Given the description of an element on the screen output the (x, y) to click on. 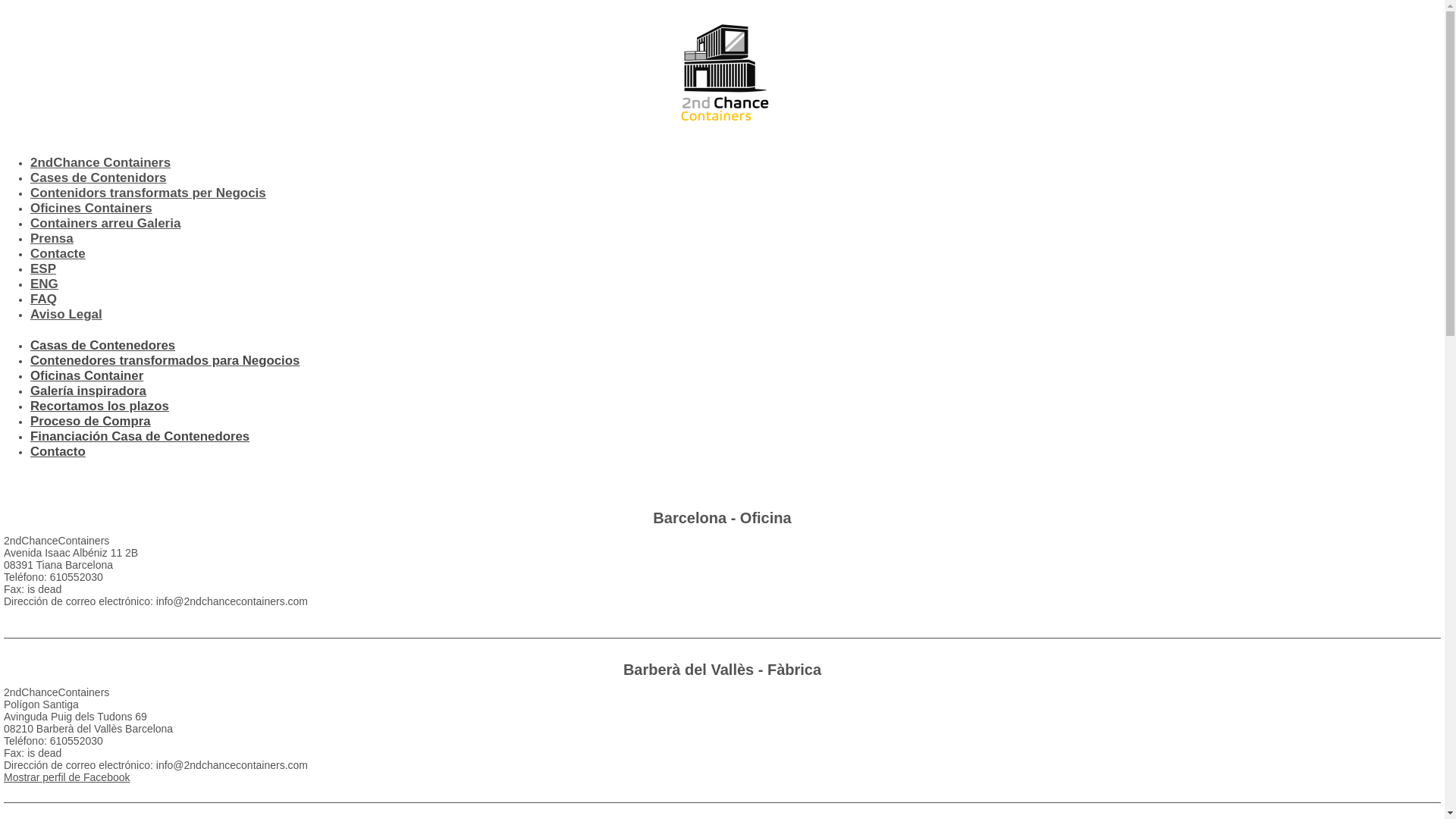
Contenidors transformats per Negocis Element type: text (148, 192)
ESP Element type: text (43, 268)
2ndChance Containers Element type: text (100, 162)
Mostrar perfil de Facebook Element type: text (66, 777)
Recortamos los plazos Element type: text (99, 405)
ENG Element type: text (44, 283)
Casas de Contenedores Element type: text (102, 345)
Oficines Containers Element type: text (91, 207)
FAQ Element type: text (43, 298)
Cases de Contenidors Element type: text (98, 177)
Contacto Element type: text (57, 451)
Proceso de Compra Element type: text (90, 421)
Contenedores transformados para Negocios Element type: text (164, 360)
Oficinas Container Element type: text (86, 375)
Prensa Element type: text (51, 238)
Contacte Element type: text (57, 253)
Aviso Legal Element type: text (66, 314)
Containers arreu Galeria Element type: text (105, 223)
